Given the description of an element on the screen output the (x, y) to click on. 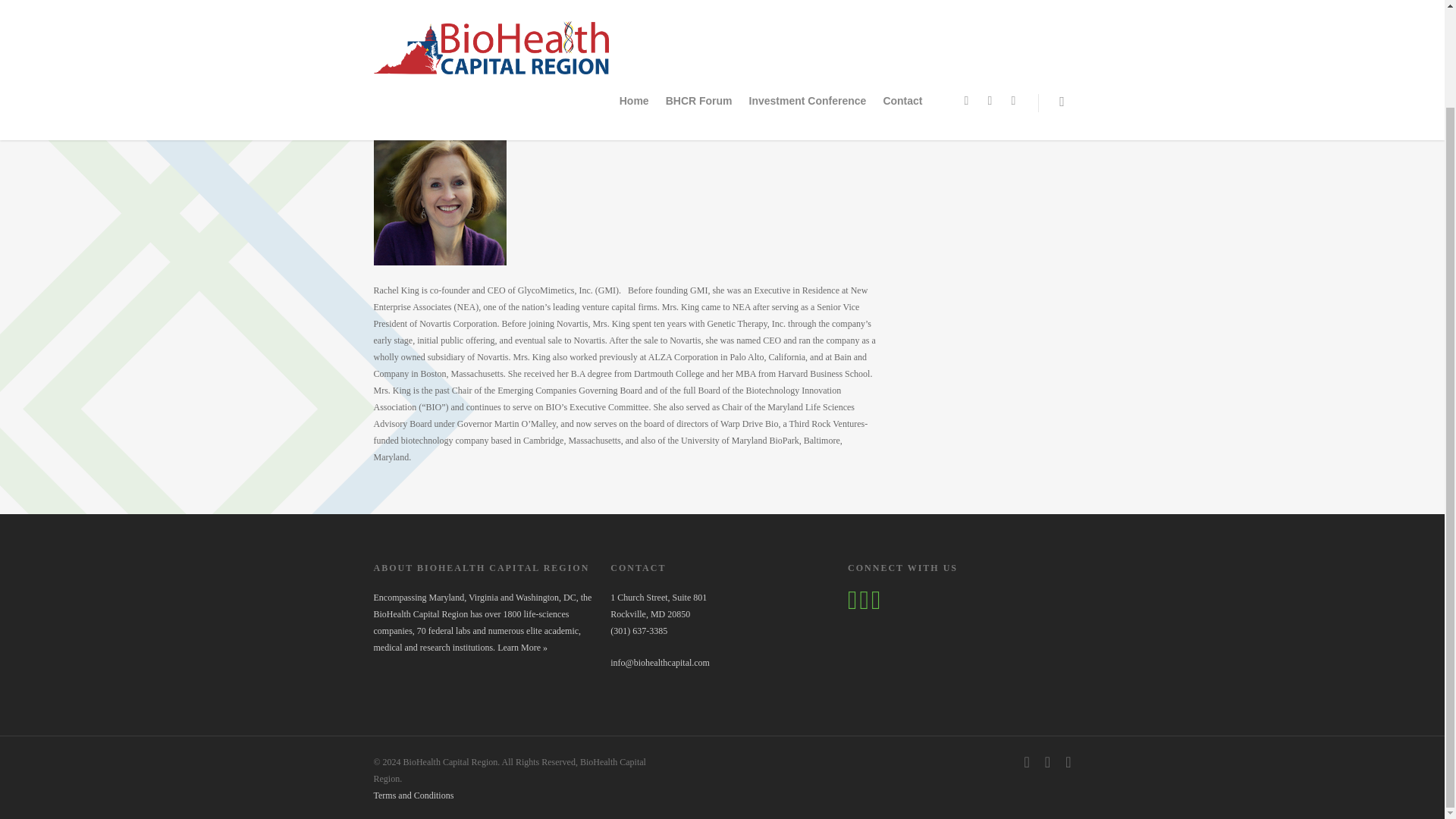
0 (524, 56)
Contact (902, 12)
No Comments (448, 56)
Home (633, 12)
BHCR Forum (698, 12)
Terms and Conditions (412, 795)
Love this (524, 56)
Investment Conference (808, 12)
